Given the description of an element on the screen output the (x, y) to click on. 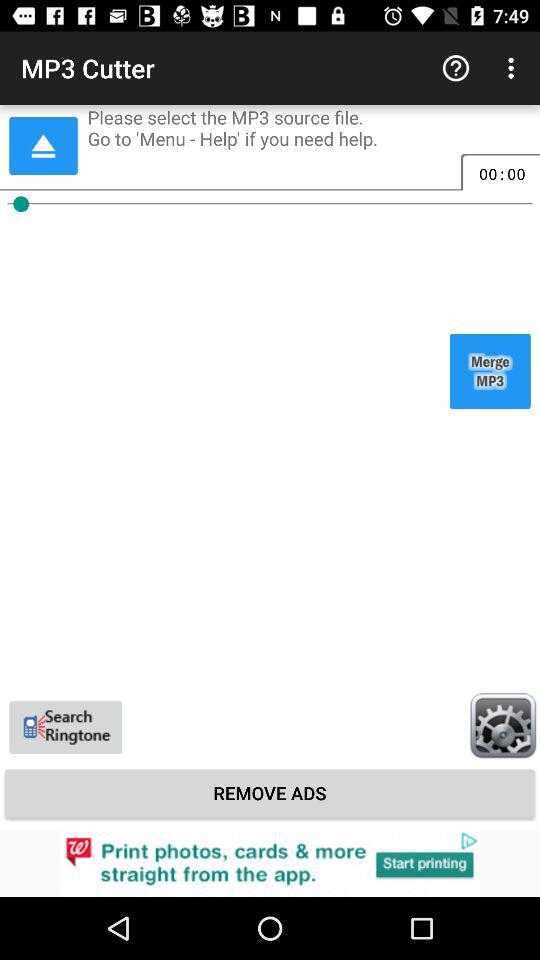
combine mp3 files (489, 371)
